Given the description of an element on the screen output the (x, y) to click on. 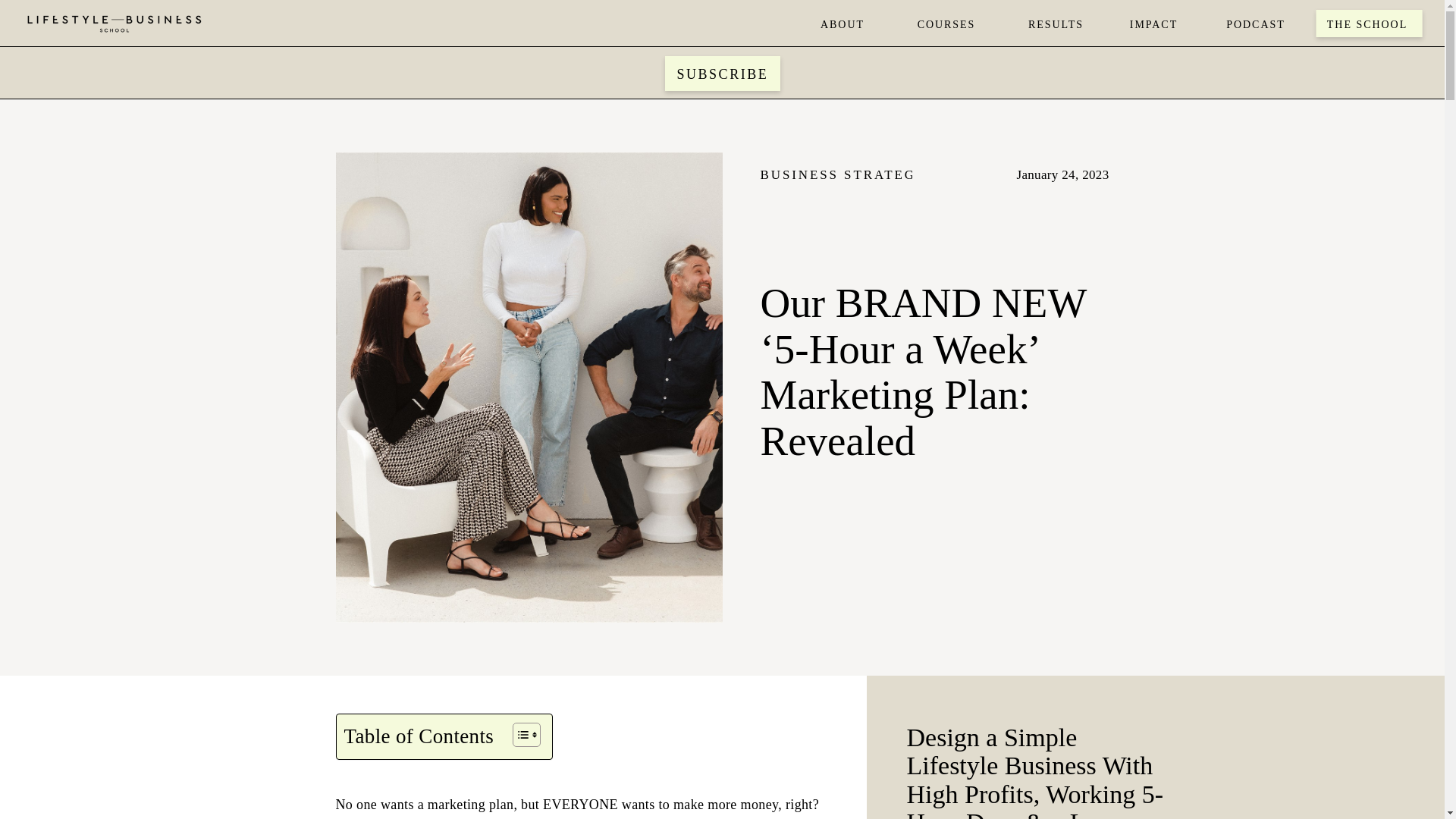
IMPACT (1153, 23)
PODCAST (1255, 23)
ABOUT (842, 23)
COURSES (946, 23)
RESULTS (1055, 23)
BUSINESS STRATEGY (843, 174)
